Given the description of an element on the screen output the (x, y) to click on. 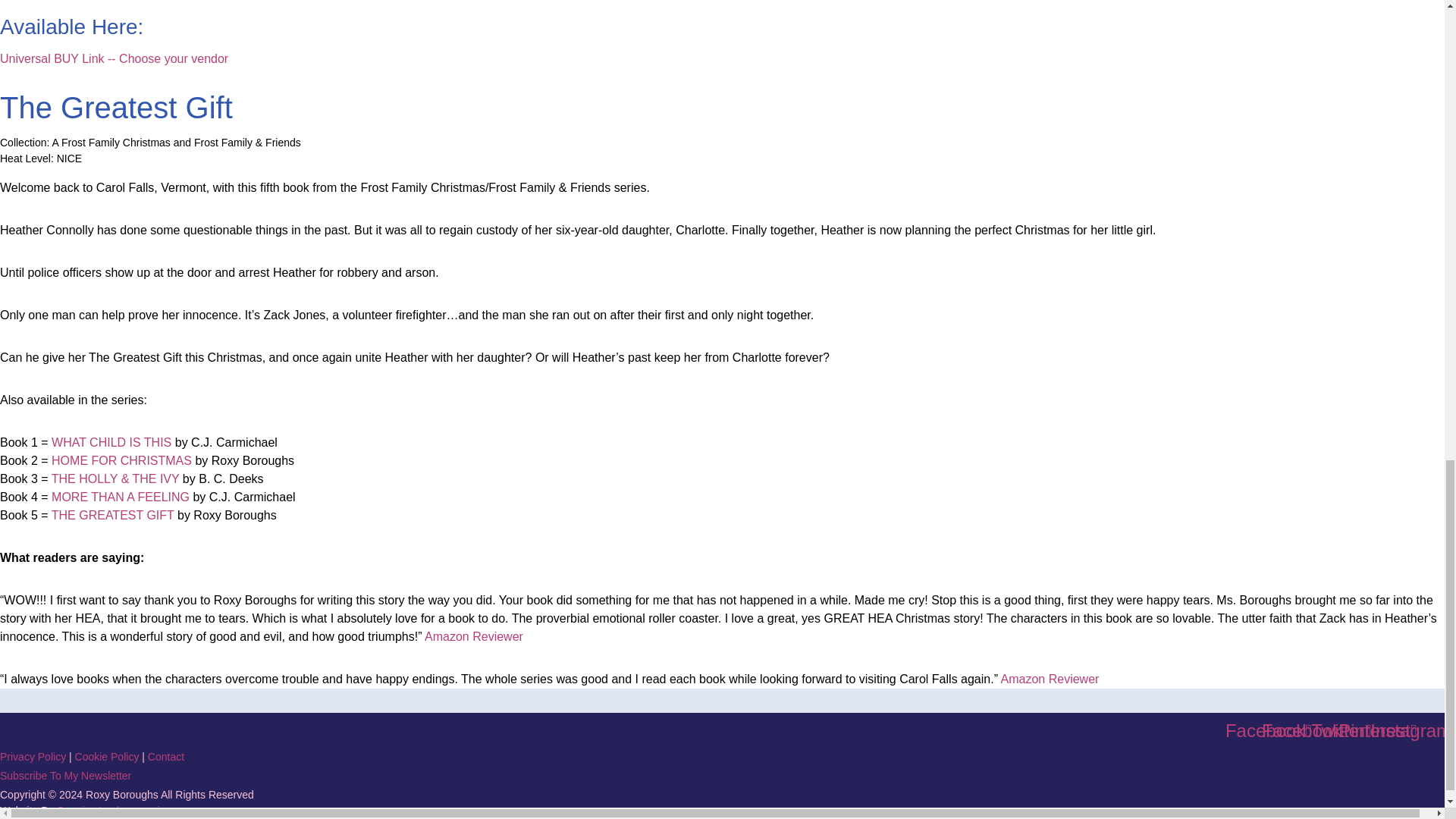
Universal BUY Link -- Choose your vendor (114, 58)
Amazon Reviewer (1050, 678)
Pinterest (1377, 730)
Twitter (1341, 730)
Instagram (1414, 730)
Subscribe To My Newsletter (65, 775)
HOME FOR CHRISTMAS (121, 460)
Amazon Reviewer (473, 635)
MORE THAN A FEELING (119, 496)
Facebook (1305, 730)
Facebook (1268, 730)
Contact (166, 756)
Creative Implementations (116, 810)
Cookie Policy (107, 756)
Privacy Policy (32, 756)
